Given the description of an element on the screen output the (x, y) to click on. 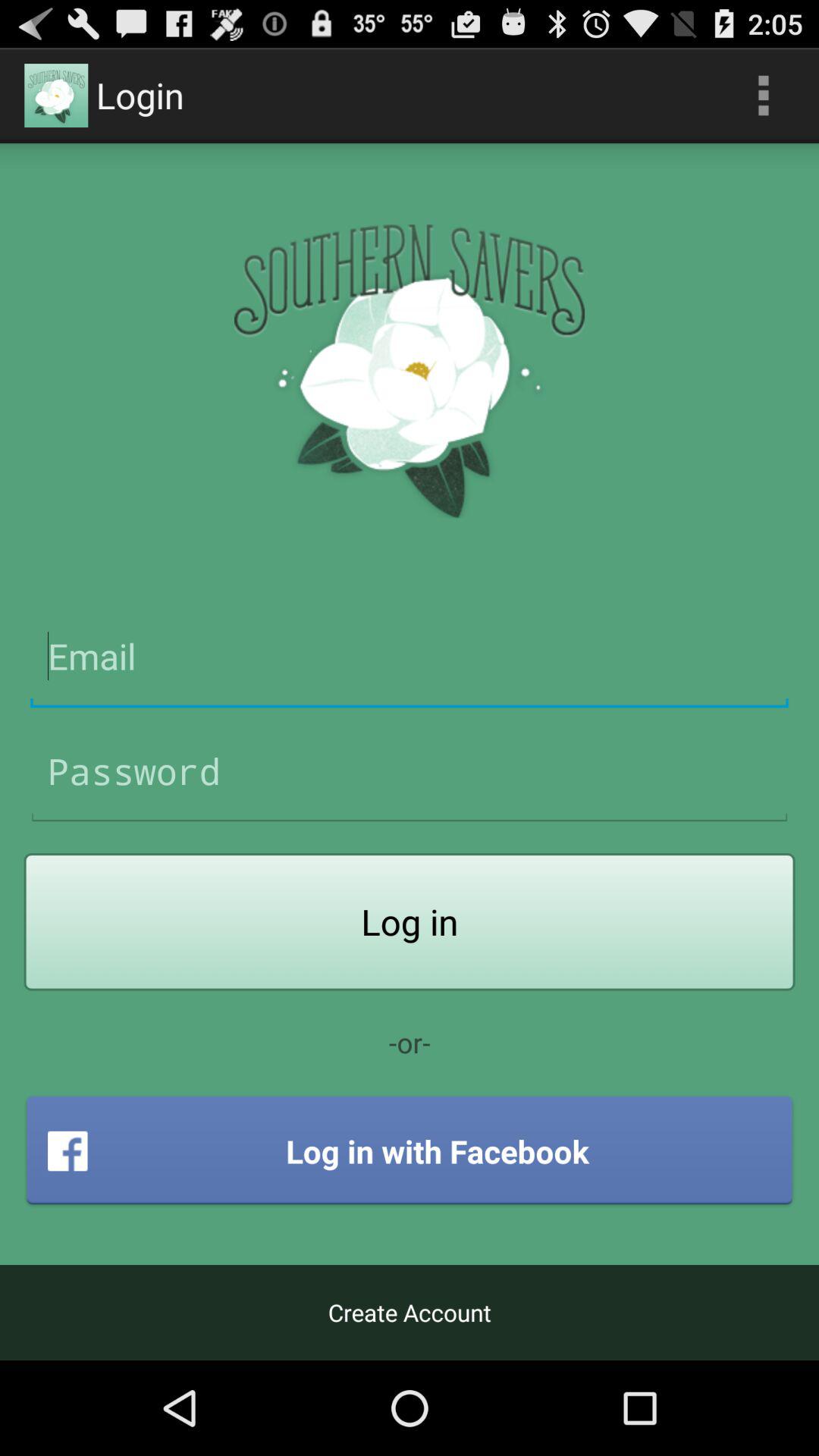
click the icon below log in with icon (409, 1312)
